Given the description of an element on the screen output the (x, y) to click on. 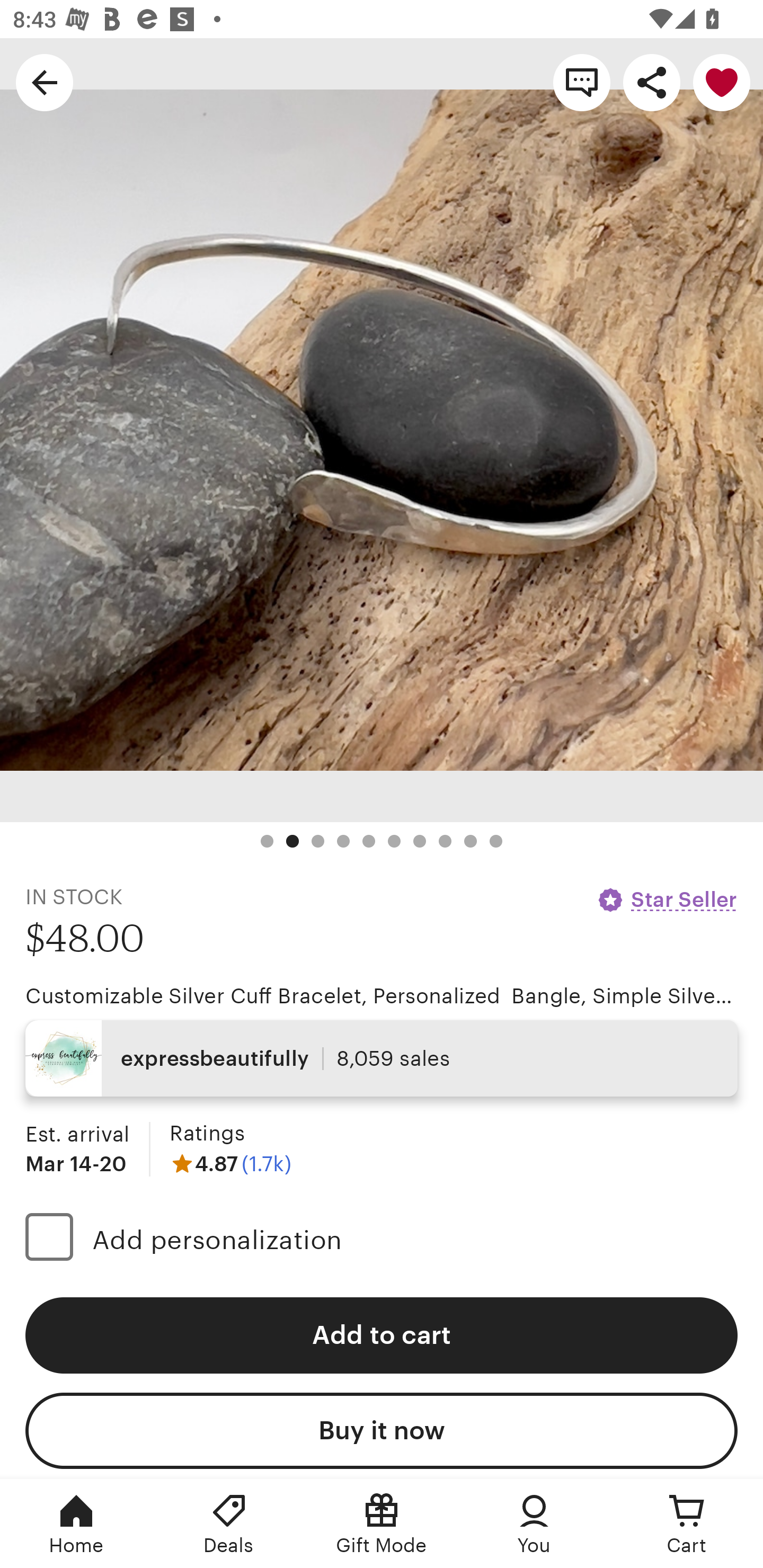
Navigate up (44, 81)
Contact shop (581, 81)
Share (651, 81)
Star Seller (666, 899)
expressbeautifully 8,059 sales (381, 1058)
Ratings (206, 1133)
4.87 (1.7k) (230, 1163)
Add personalization (optional) Add personalization (381, 1239)
Add to cart (381, 1334)
Buy it now (381, 1430)
Deals (228, 1523)
Gift Mode (381, 1523)
You (533, 1523)
Cart (686, 1523)
